Given the description of an element on the screen output the (x, y) to click on. 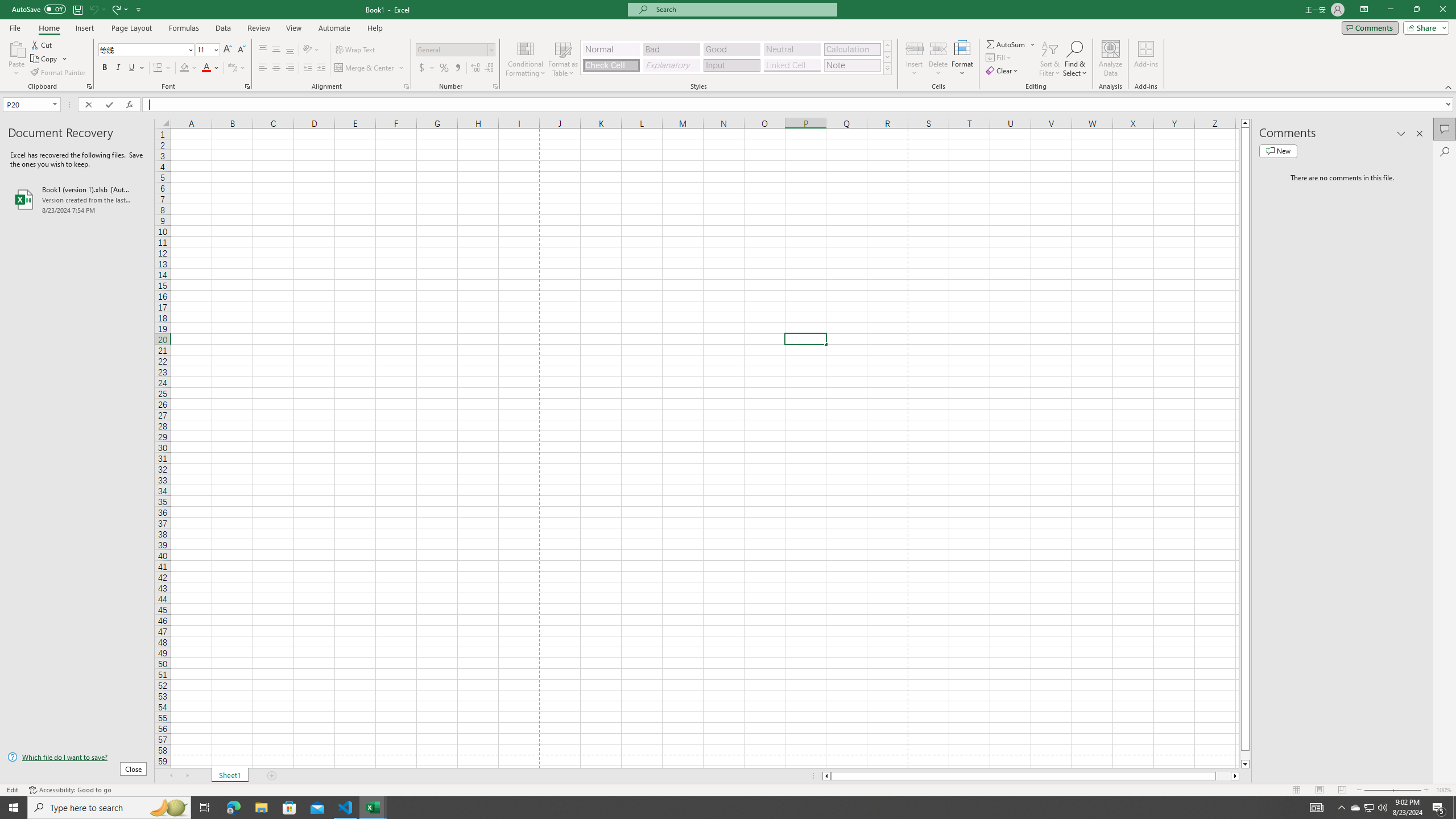
Copy (49, 58)
Format Cell Number (494, 85)
Find & Select (1075, 58)
Italic (118, 67)
AutomationID: CellStylesGallery (736, 57)
Search (1444, 151)
Fill (999, 56)
Fill Color RGB(255, 255, 0) (183, 67)
